Given the description of an element on the screen output the (x, y) to click on. 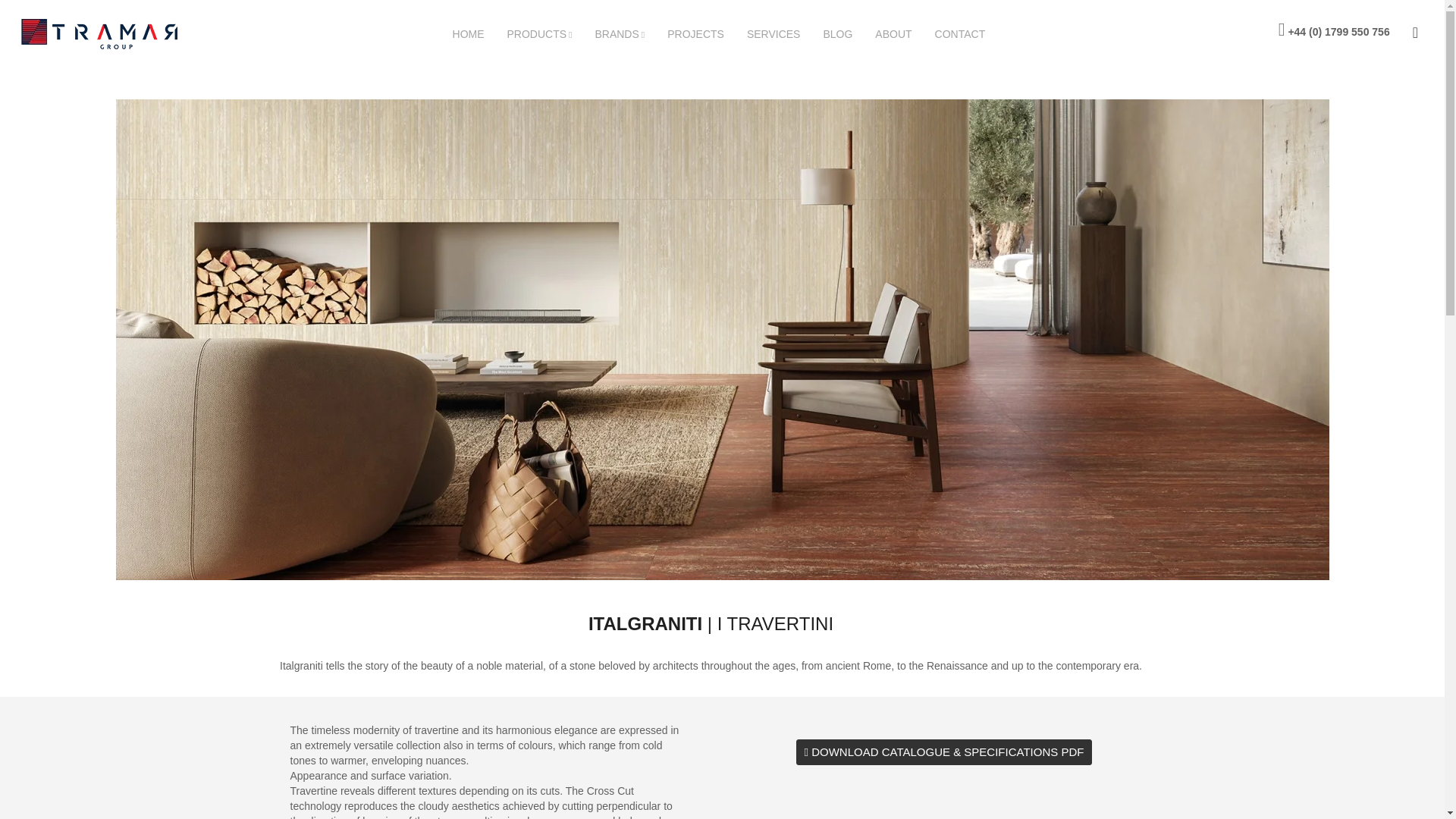
ABOUT (904, 33)
BRANDS (630, 34)
Tramar Group (111, 33)
SERVICES (785, 33)
HOME (479, 33)
BLOG (848, 33)
CONTACT (971, 33)
PRODUCTS (550, 34)
PROJECTS (706, 33)
